Given the description of an element on the screen output the (x, y) to click on. 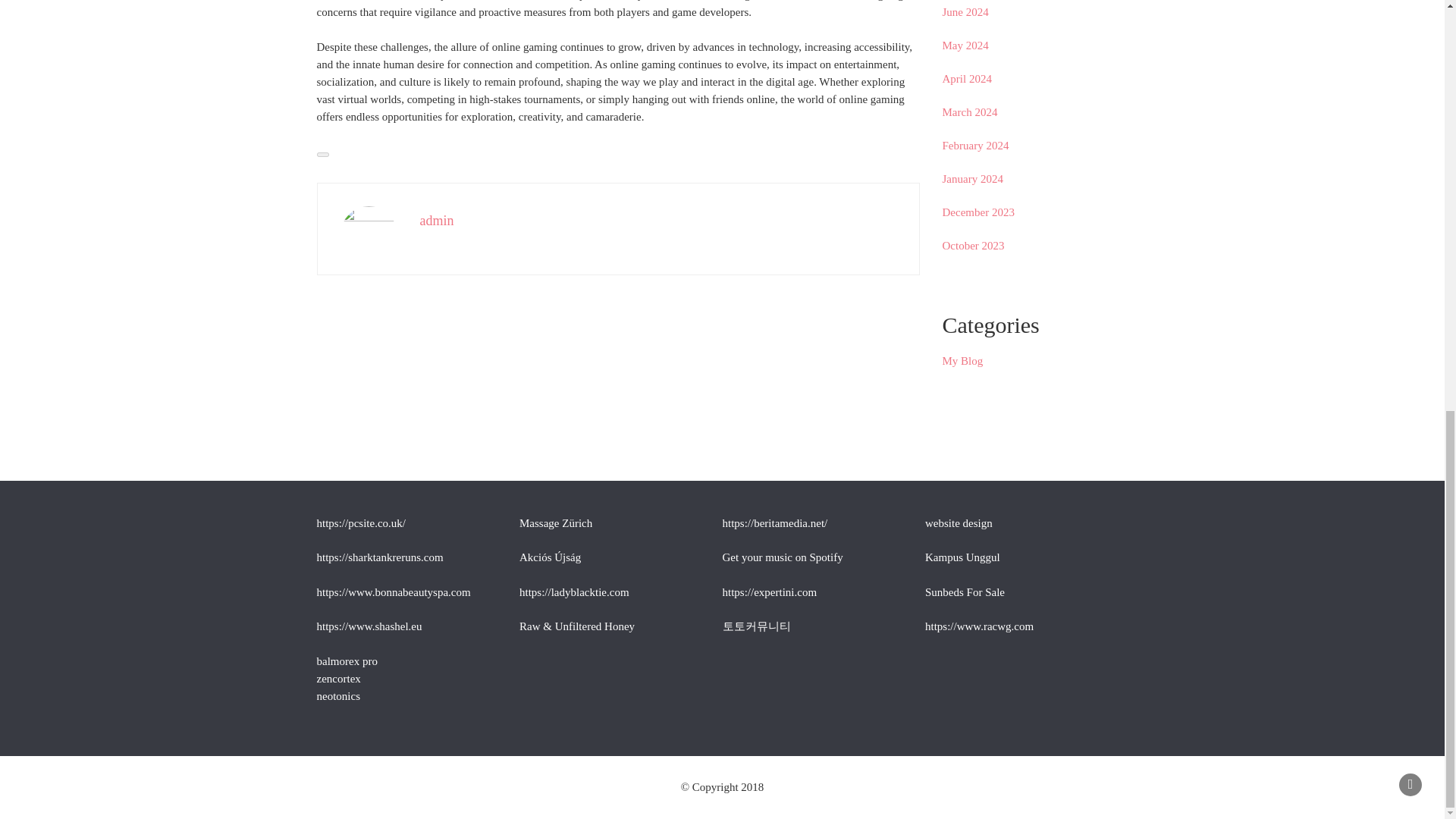
Get your music on Spotify (782, 557)
February 2024 (975, 145)
admin (437, 220)
June 2024 (965, 11)
Sunbeds For Sale (964, 591)
April 2024 (966, 78)
March 2024 (969, 111)
January 2024 (972, 178)
website design (958, 522)
Kampus Unggul (962, 557)
My Blog (962, 360)
May 2024 (965, 45)
October 2023 (973, 245)
December 2023 (977, 212)
